Given the description of an element on the screen output the (x, y) to click on. 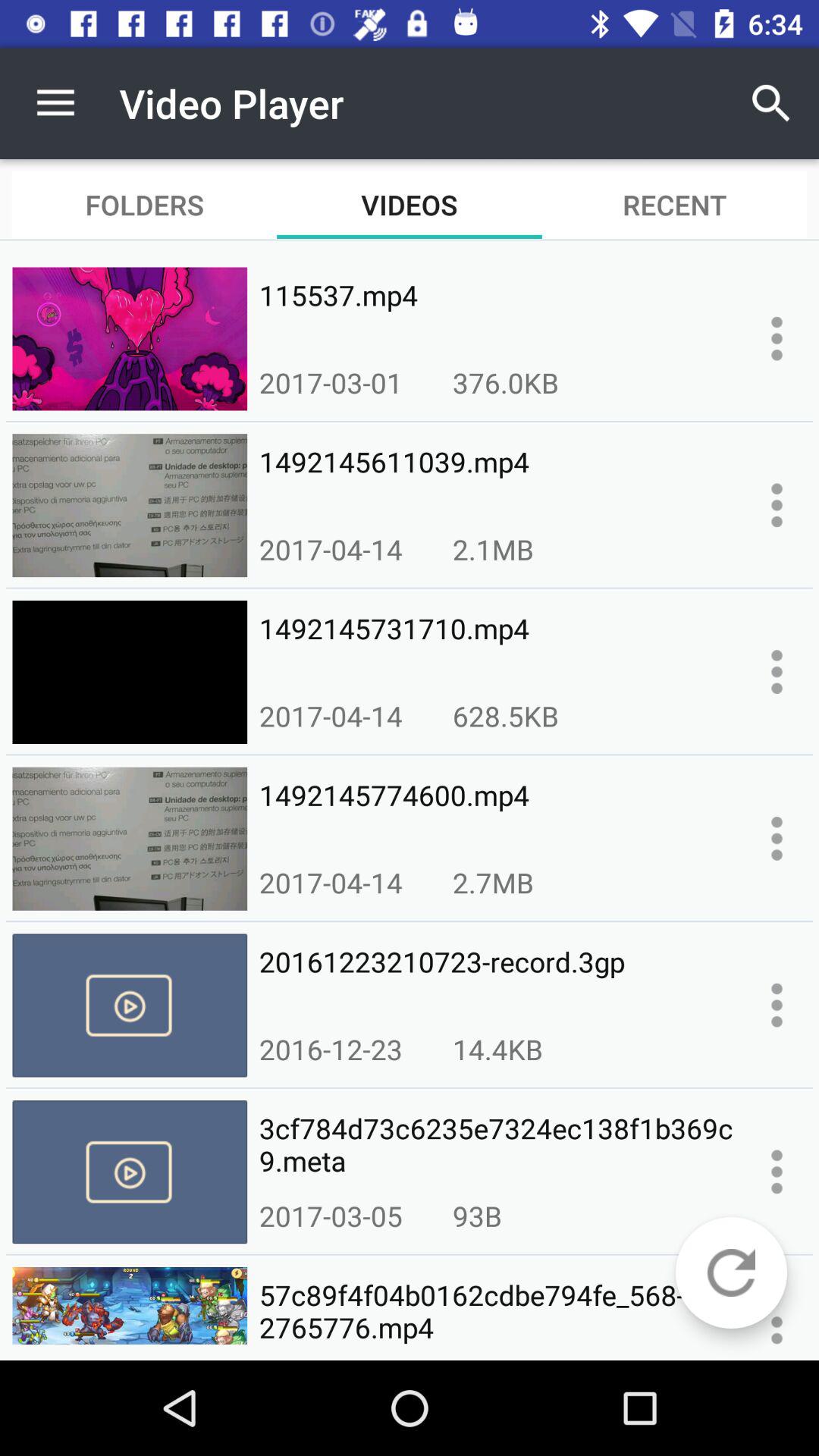
turn off the app to the left of video player (55, 103)
